Given the description of an element on the screen output the (x, y) to click on. 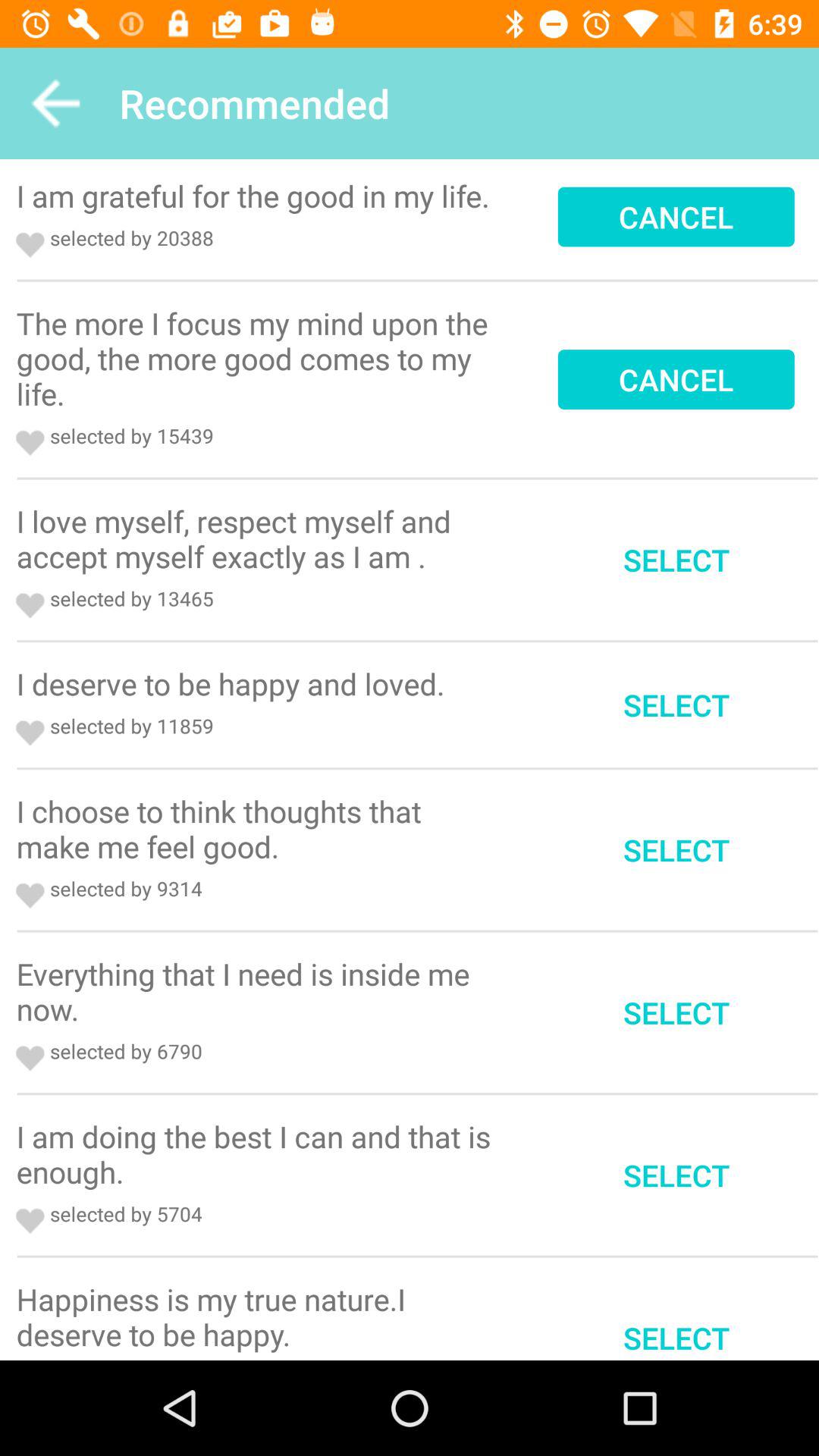
turn off the icon next to select item (258, 1316)
